Given the description of an element on the screen output the (x, y) to click on. 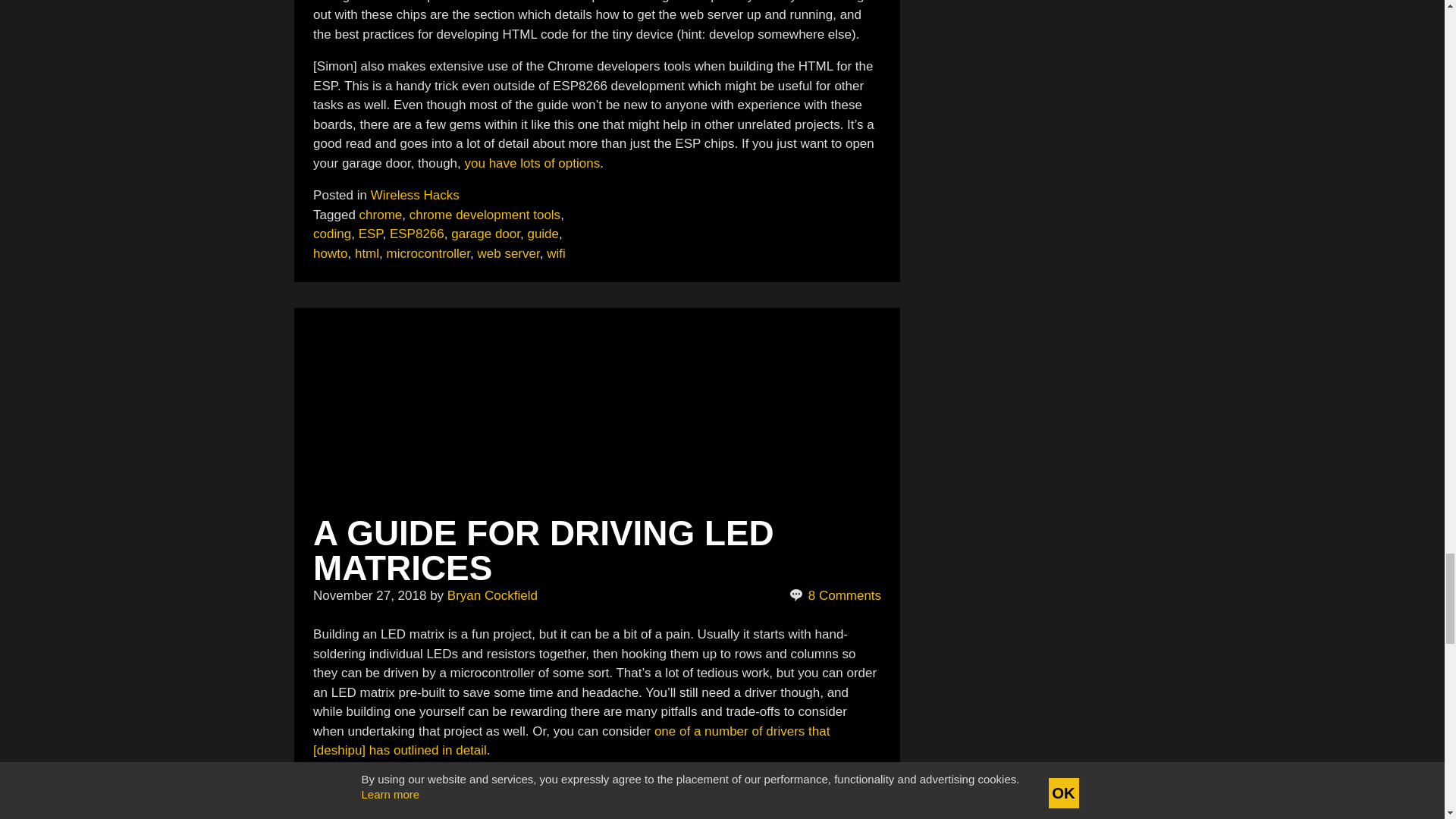
November 27, 2018 - 1:00 pm (369, 595)
Posts by Bryan Cockfield (491, 595)
